Given the description of an element on the screen output the (x, y) to click on. 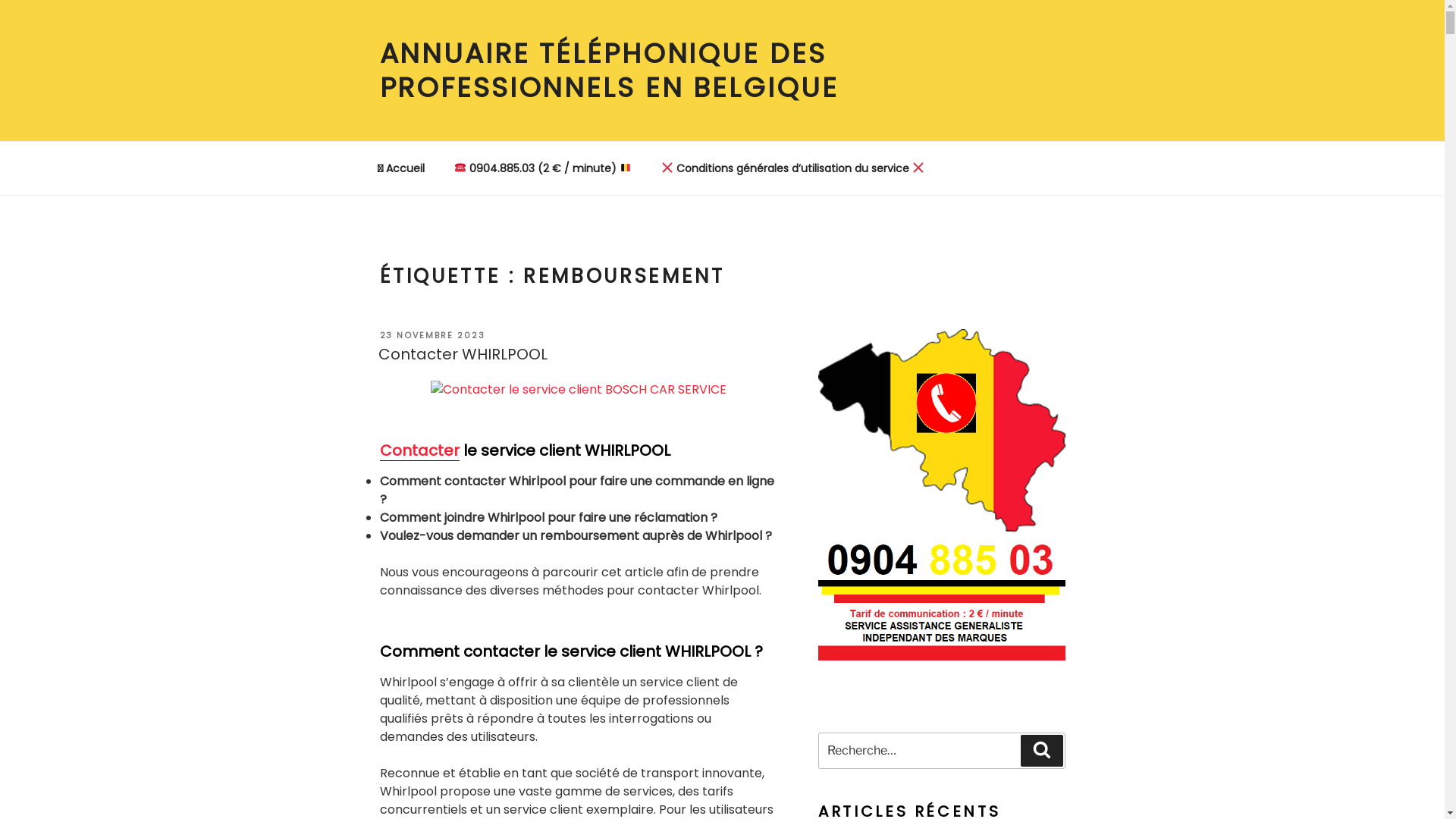
Contacter WHIRLPOOL Element type: text (461, 353)
23 NOVEMBRE 2023 Element type: text (432, 335)
Contacter Element type: text (418, 450)
Recherche Element type: text (1041, 750)
